Given the description of an element on the screen output the (x, y) to click on. 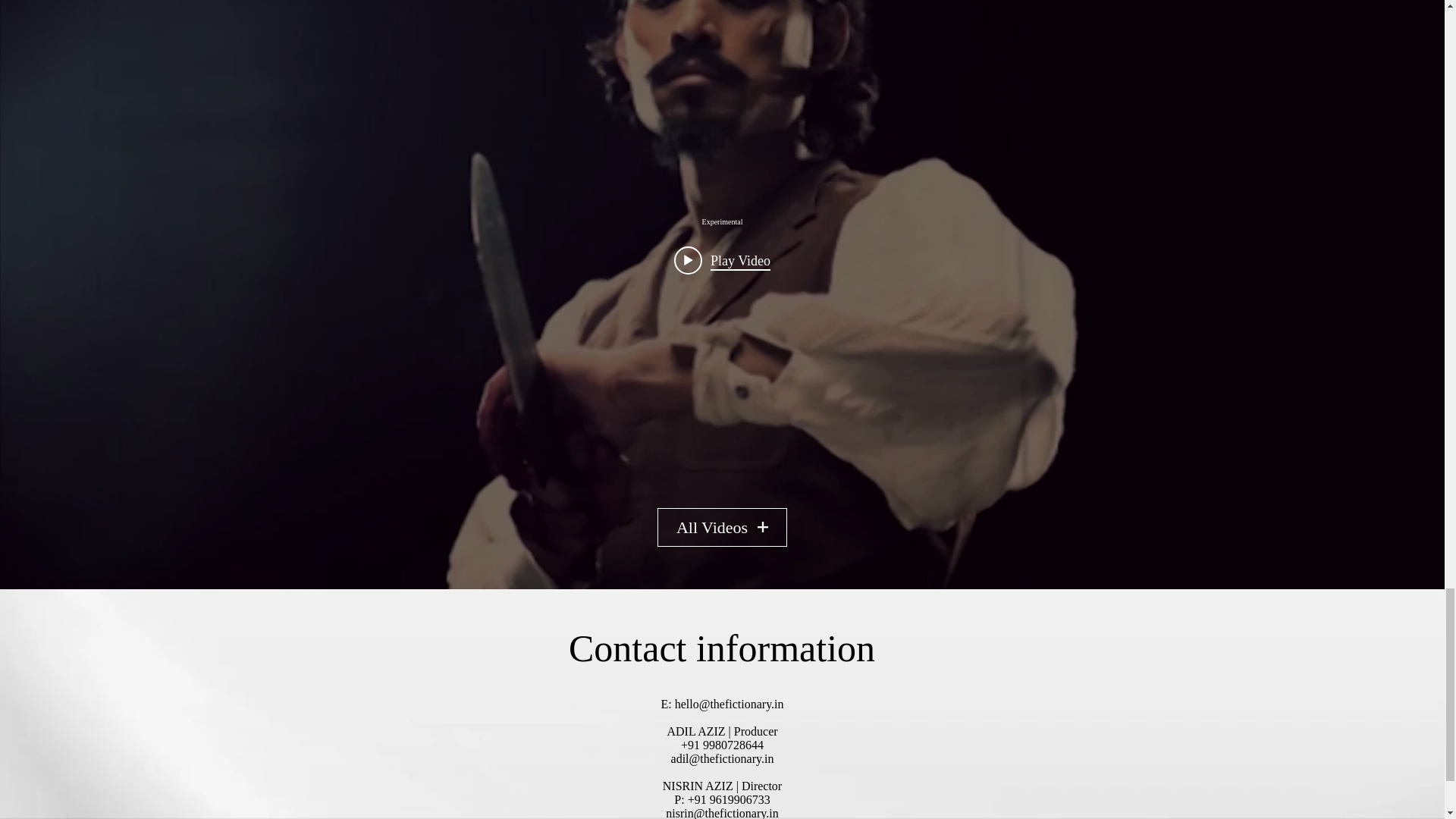
All Videos (722, 527)
Experimental (721, 221)
Play Video (722, 259)
